Given the description of an element on the screen output the (x, y) to click on. 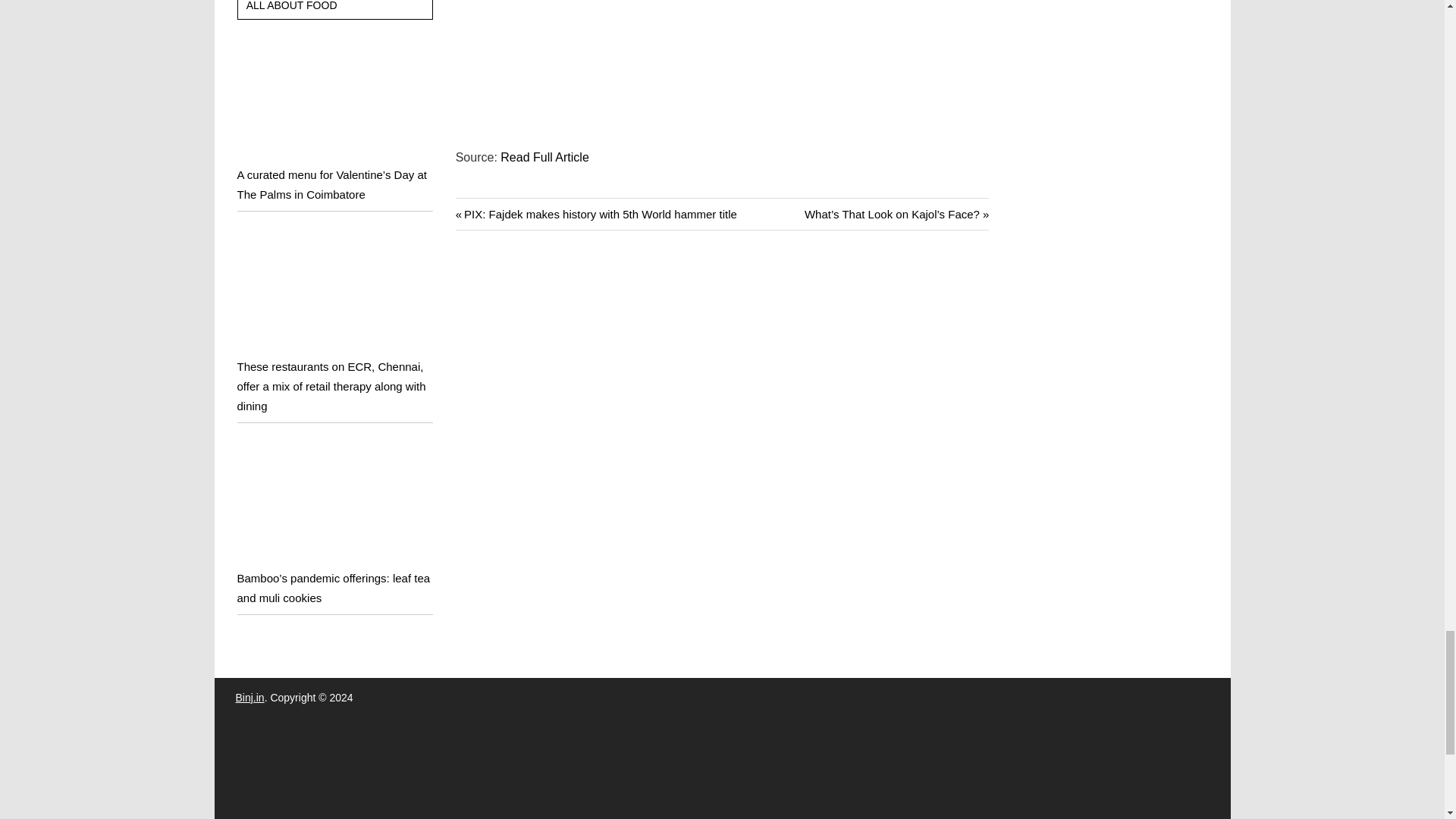
Read Full Article (544, 156)
YouTube video player (667, 61)
